Given the description of an element on the screen output the (x, y) to click on. 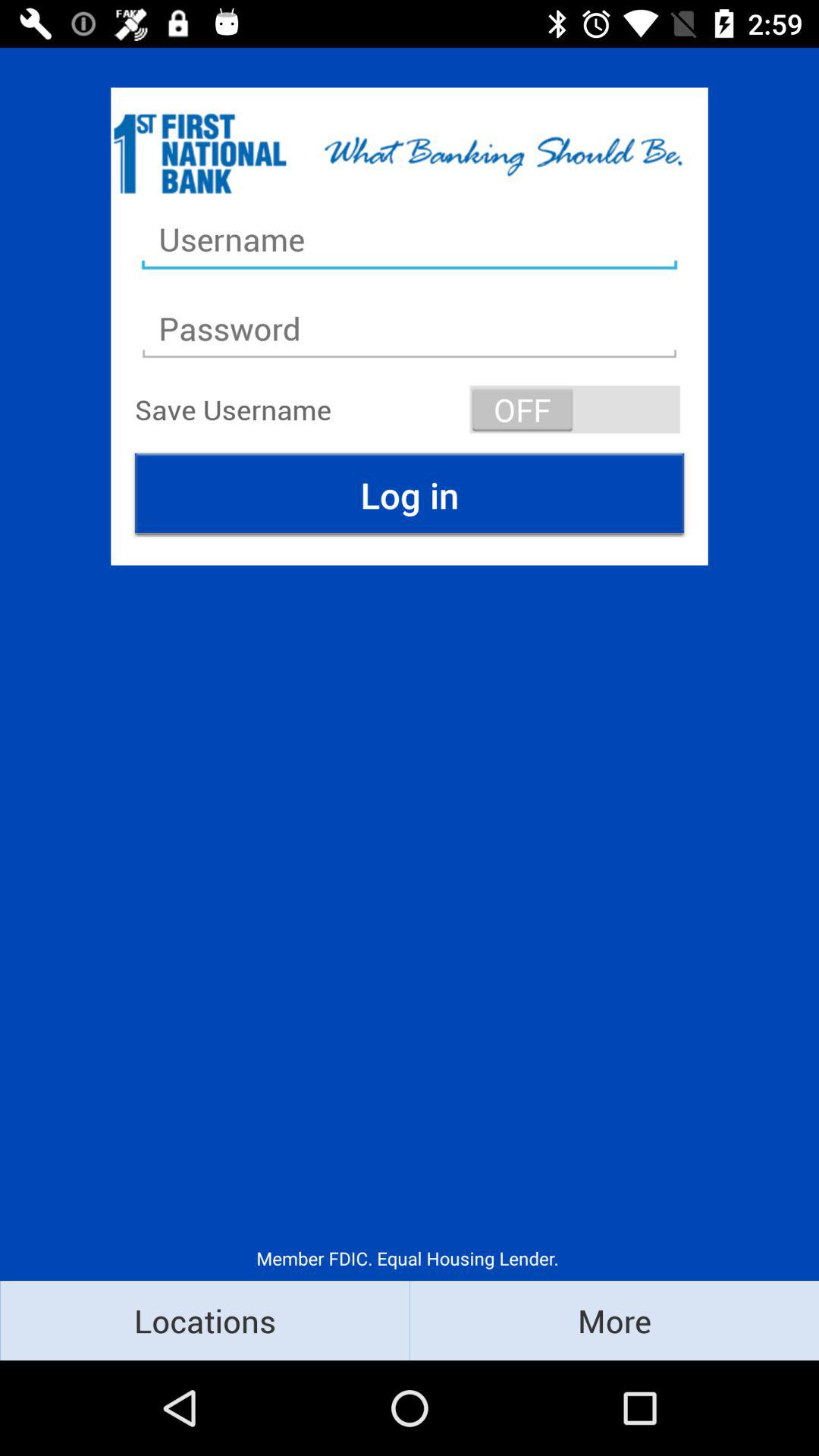
open the icon above log in icon (574, 409)
